Given the description of an element on the screen output the (x, y) to click on. 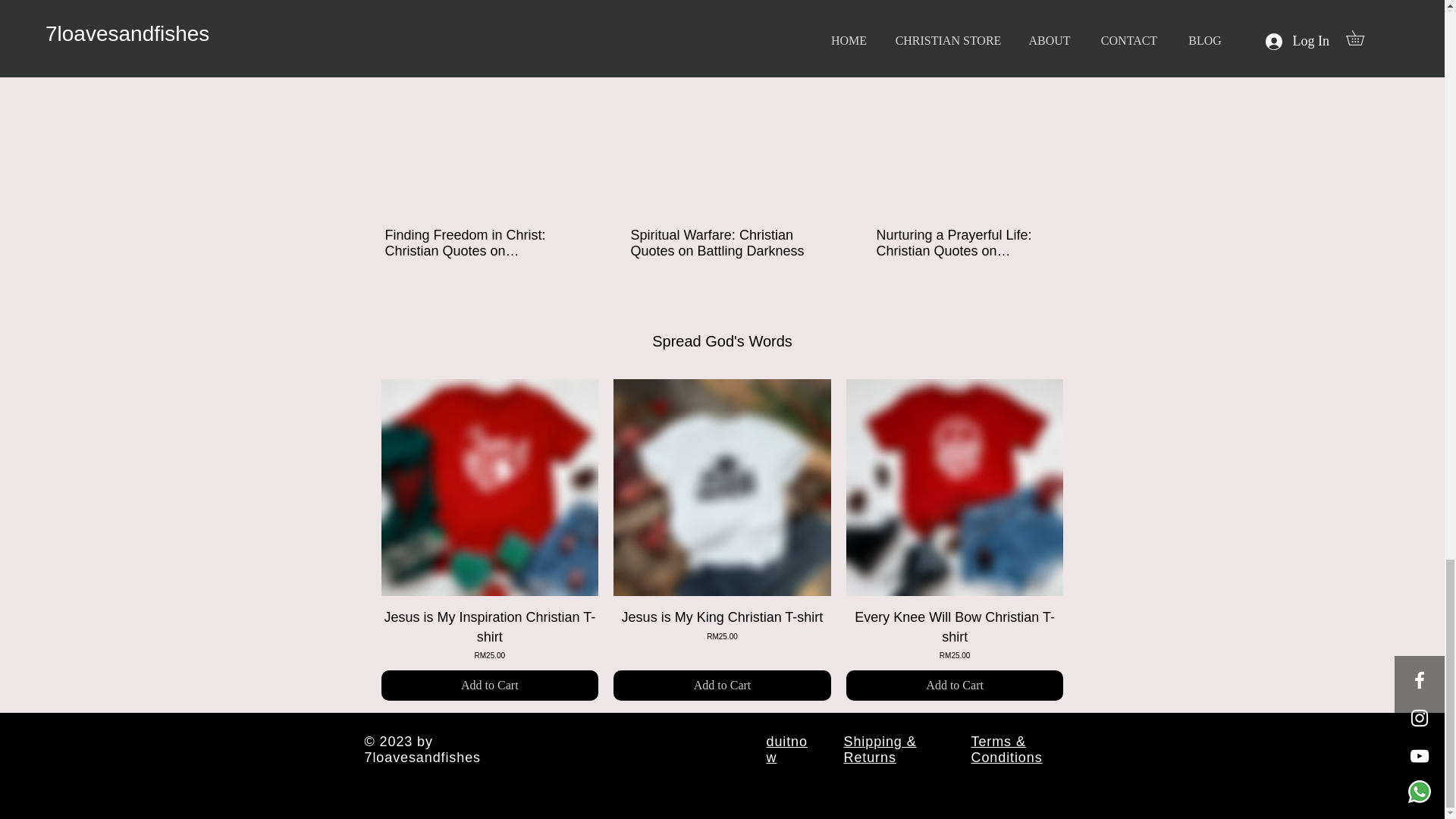
See All (1061, 59)
Spiritual Warfare: Christian Quotes on Battling Darkness (721, 243)
Add to Cart (489, 685)
Finding Freedom in Christ: Christian Quotes on Liberation (954, 634)
Add to Cart (476, 243)
Add to Cart (721, 685)
